Given the description of an element on the screen output the (x, y) to click on. 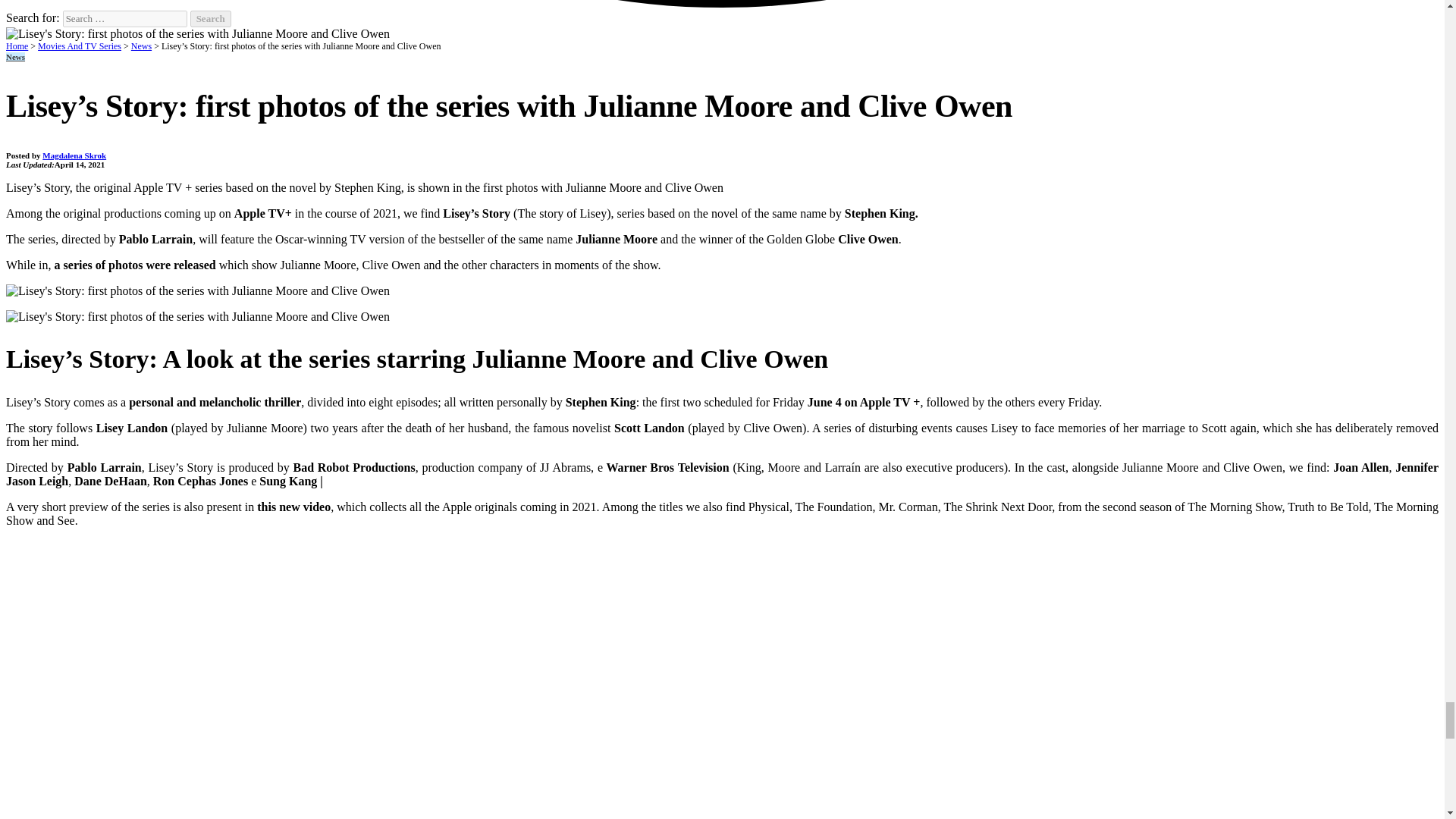
Search (210, 18)
Search (210, 18)
